Given the description of an element on the screen output the (x, y) to click on. 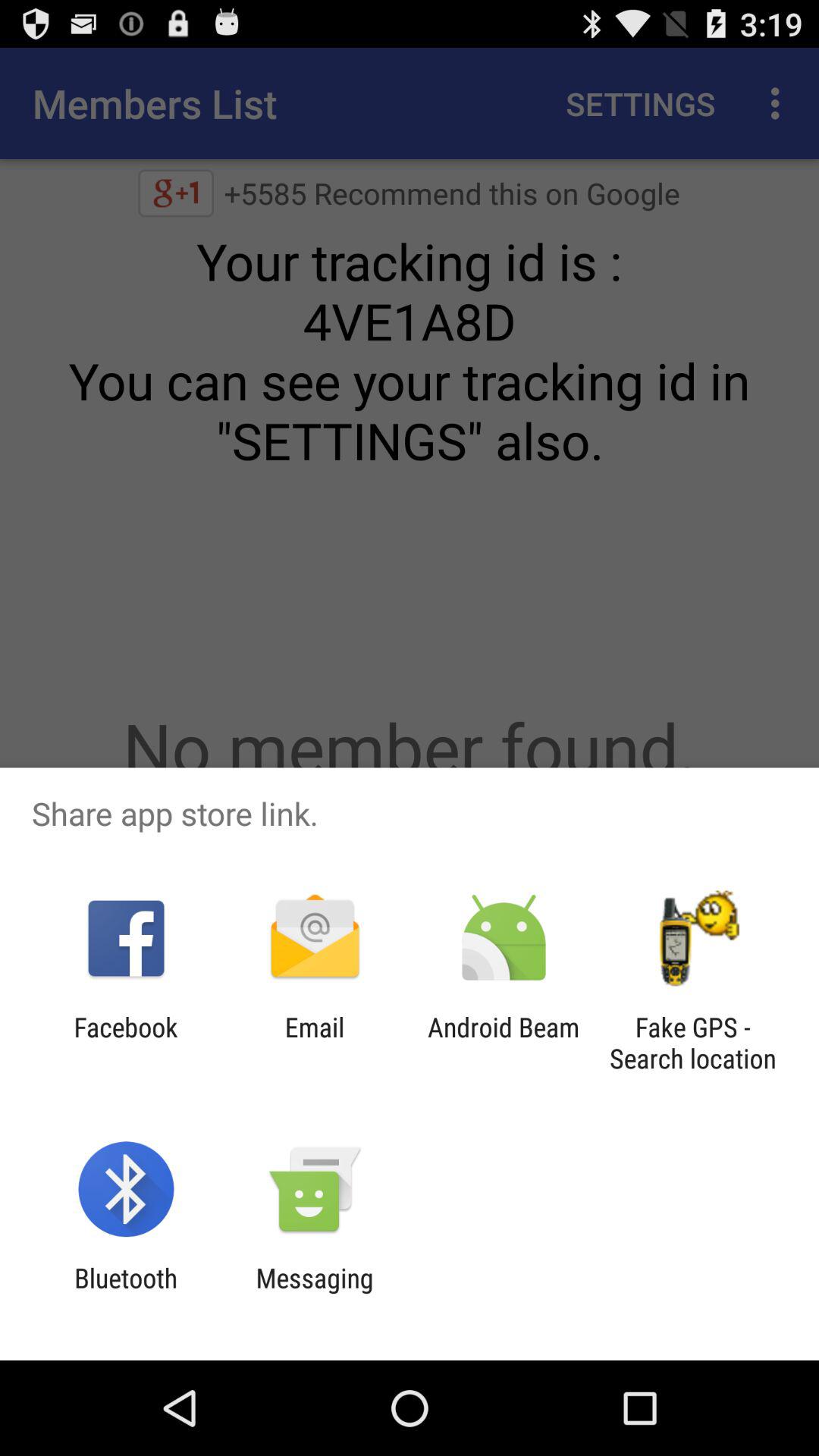
launch icon next to the android beam app (692, 1042)
